Given the description of an element on the screen output the (x, y) to click on. 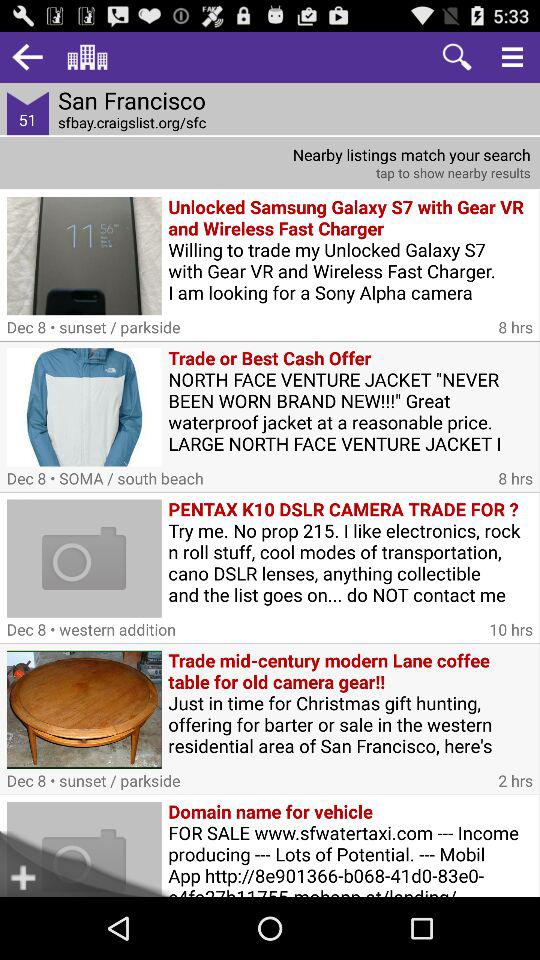
show nearby results (270, 162)
